Given the description of an element on the screen output the (x, y) to click on. 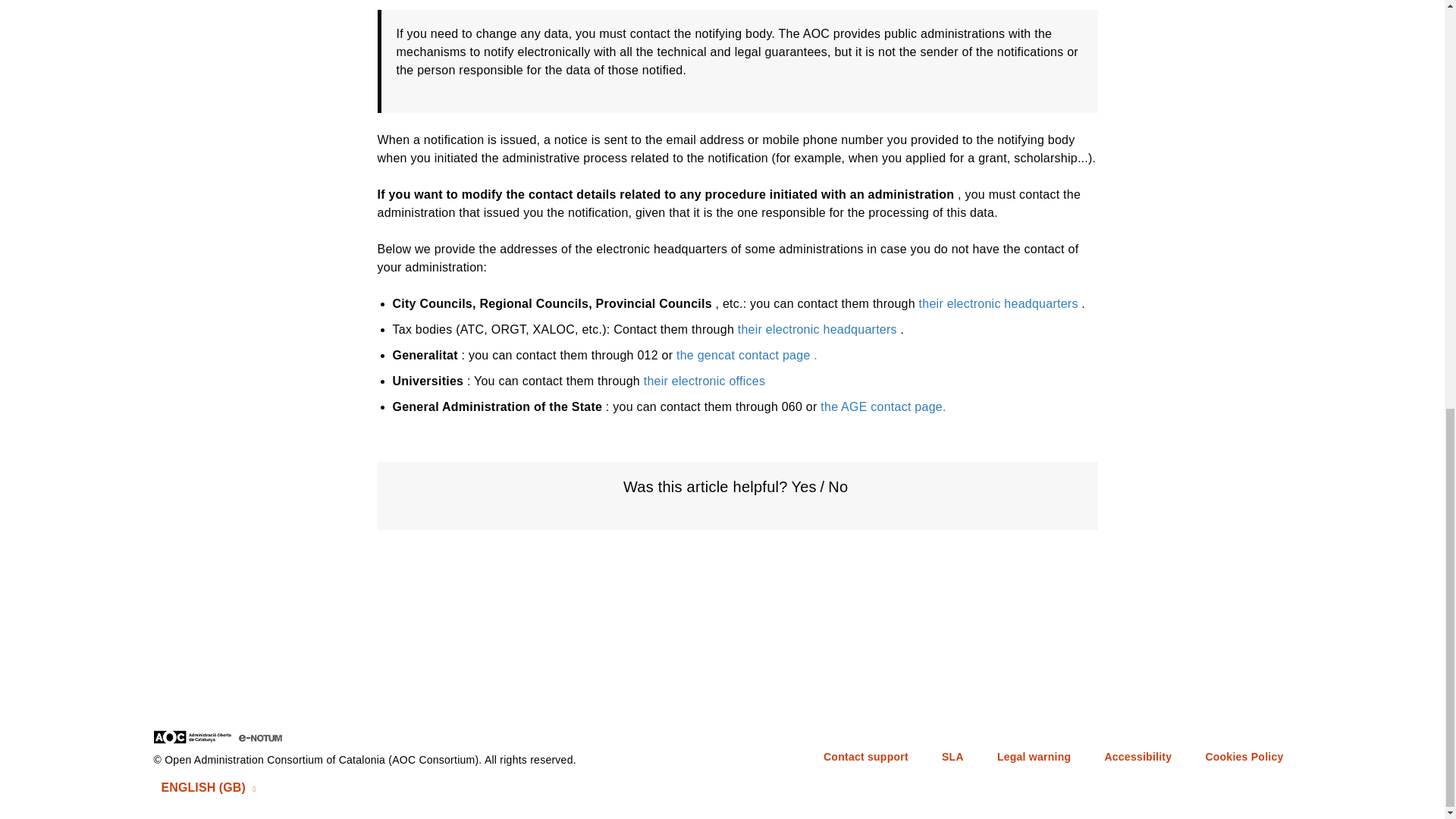
No (837, 486)
their electronic headquarters (998, 303)
the gencat contact page . (746, 354)
Yes (804, 486)
Home (240, 736)
their electronic offices (704, 380)
their electronic headquarters (817, 328)
the AGE contact page. (882, 406)
